Given the description of an element on the screen output the (x, y) to click on. 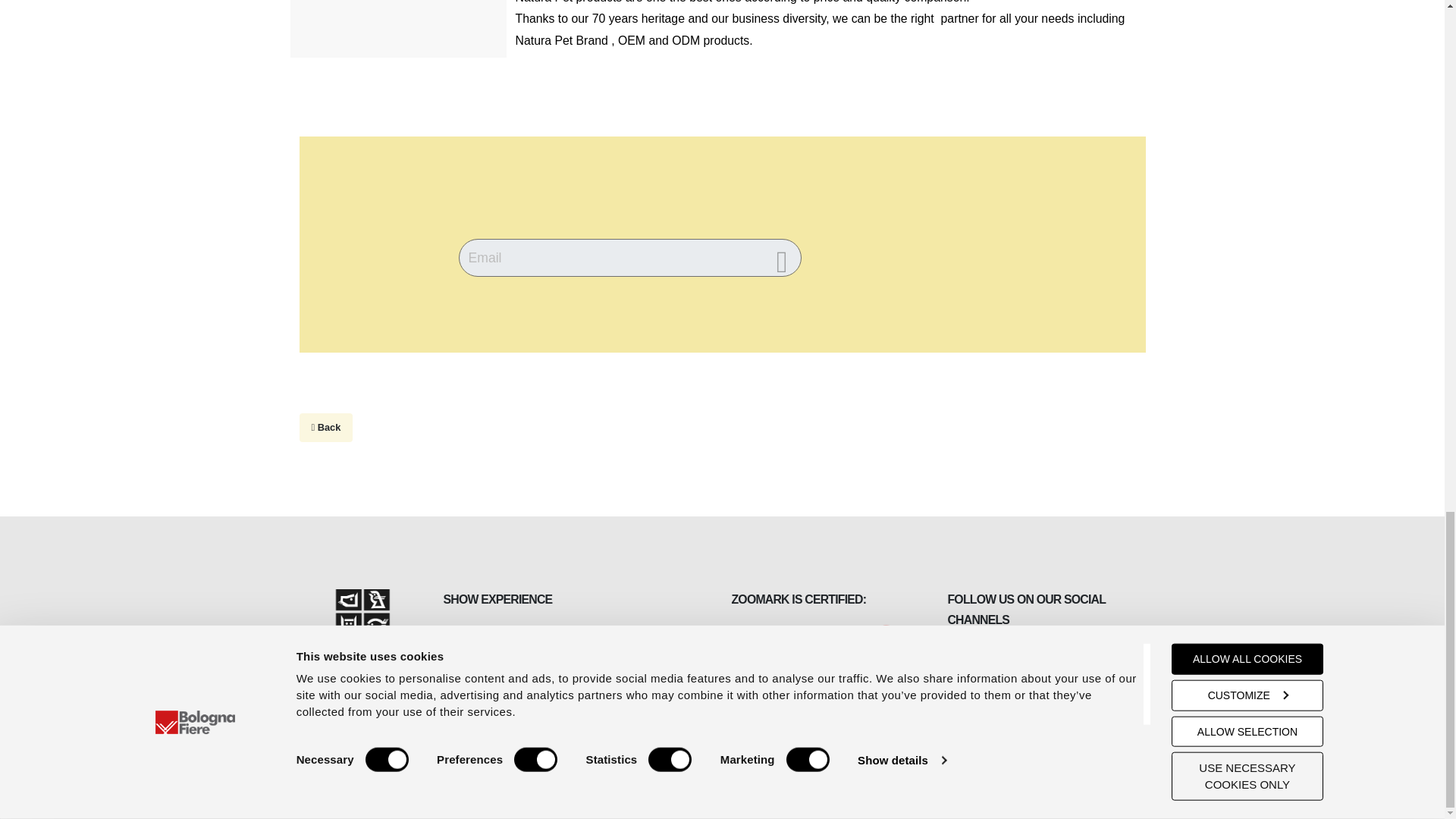
youtube (1018, 678)
Facebook (959, 678)
Linkedin (988, 678)
